Given the description of an element on the screen output the (x, y) to click on. 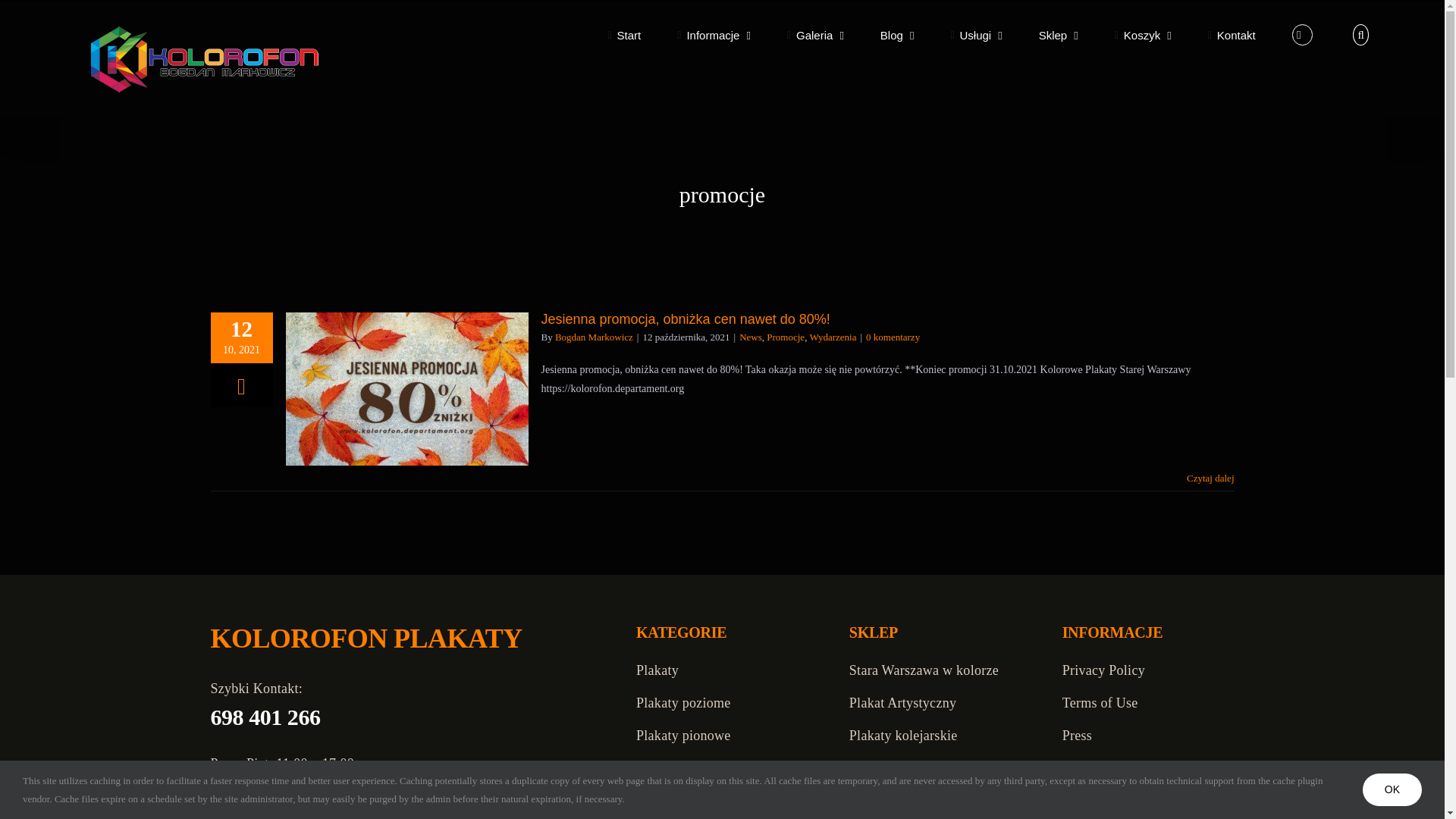
Blog (897, 34)
Informacje (714, 34)
Start (623, 34)
Galeria (815, 34)
Sklep (1058, 34)
Wpisy od Bogdan Markowicz (593, 337)
Szukaj (1360, 34)
